Given the description of an element on the screen output the (x, y) to click on. 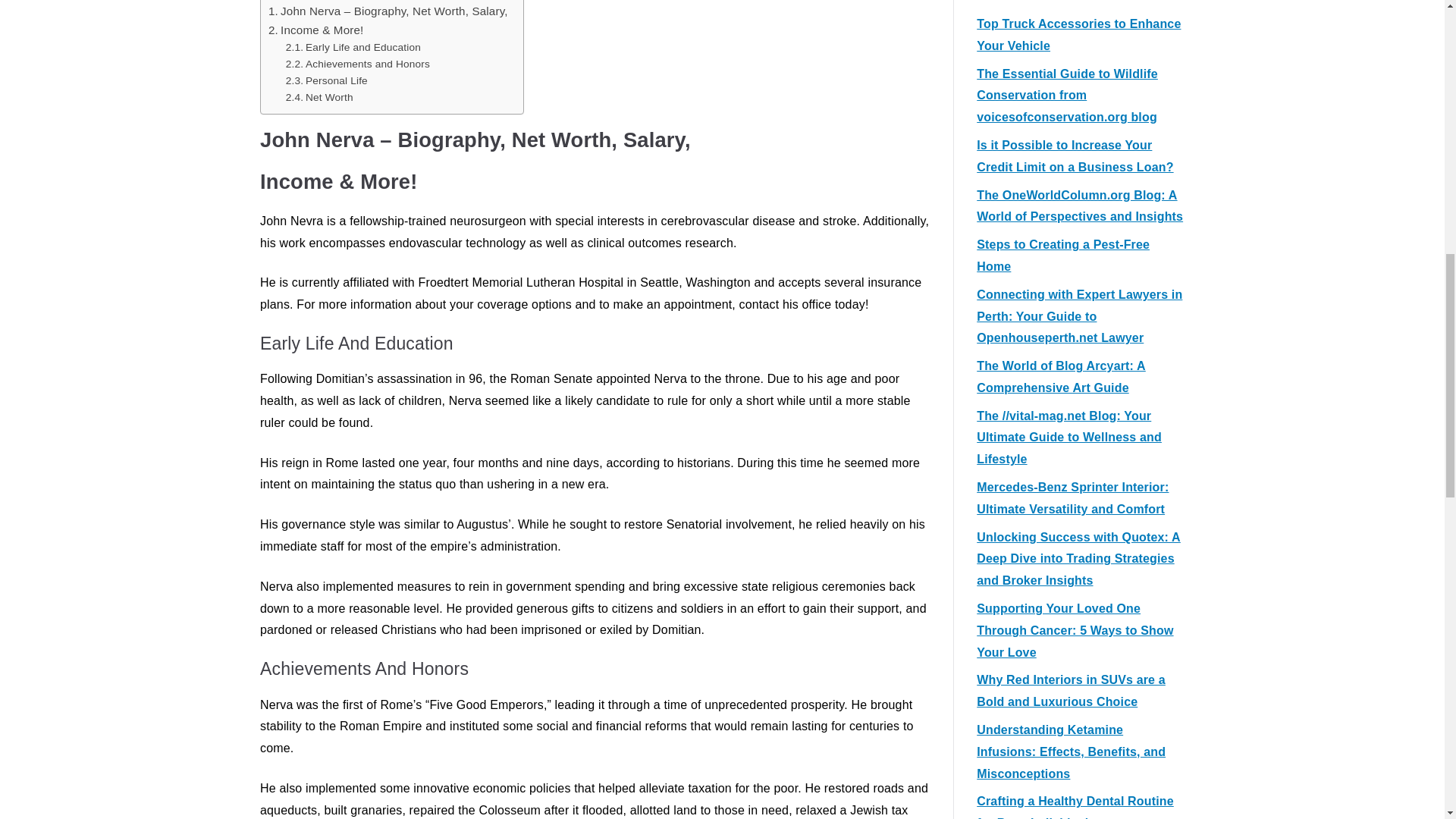
Net Worth (319, 97)
Early Life and Education (352, 47)
Personal Life (326, 80)
Achievements and Honors (357, 64)
